Given the description of an element on the screen output the (x, y) to click on. 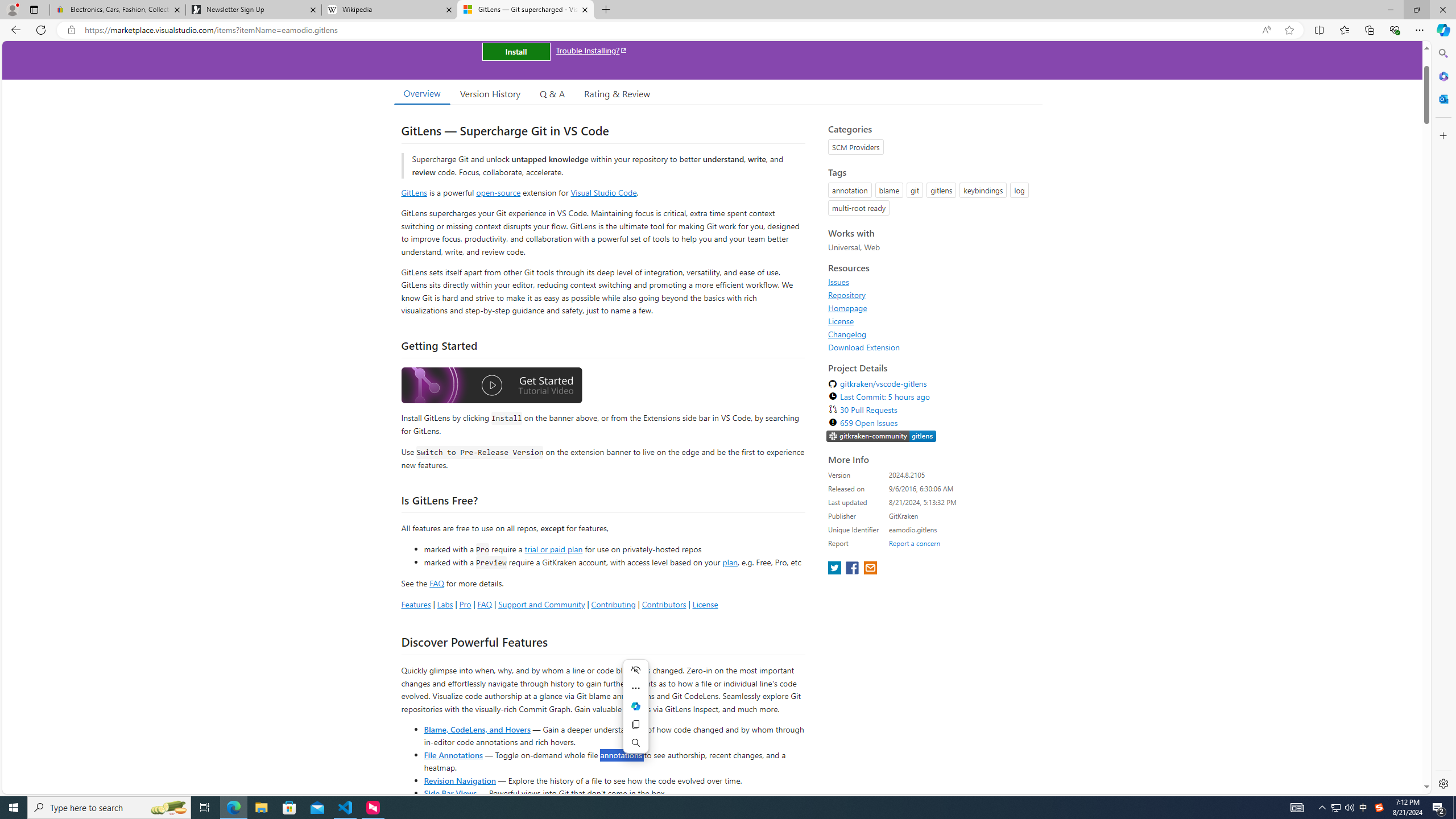
Support and Community (541, 603)
License (931, 320)
Changelog (847, 333)
plan (730, 562)
Side Bar Views (449, 792)
Rating & Review (618, 92)
